Given the description of an element on the screen output the (x, y) to click on. 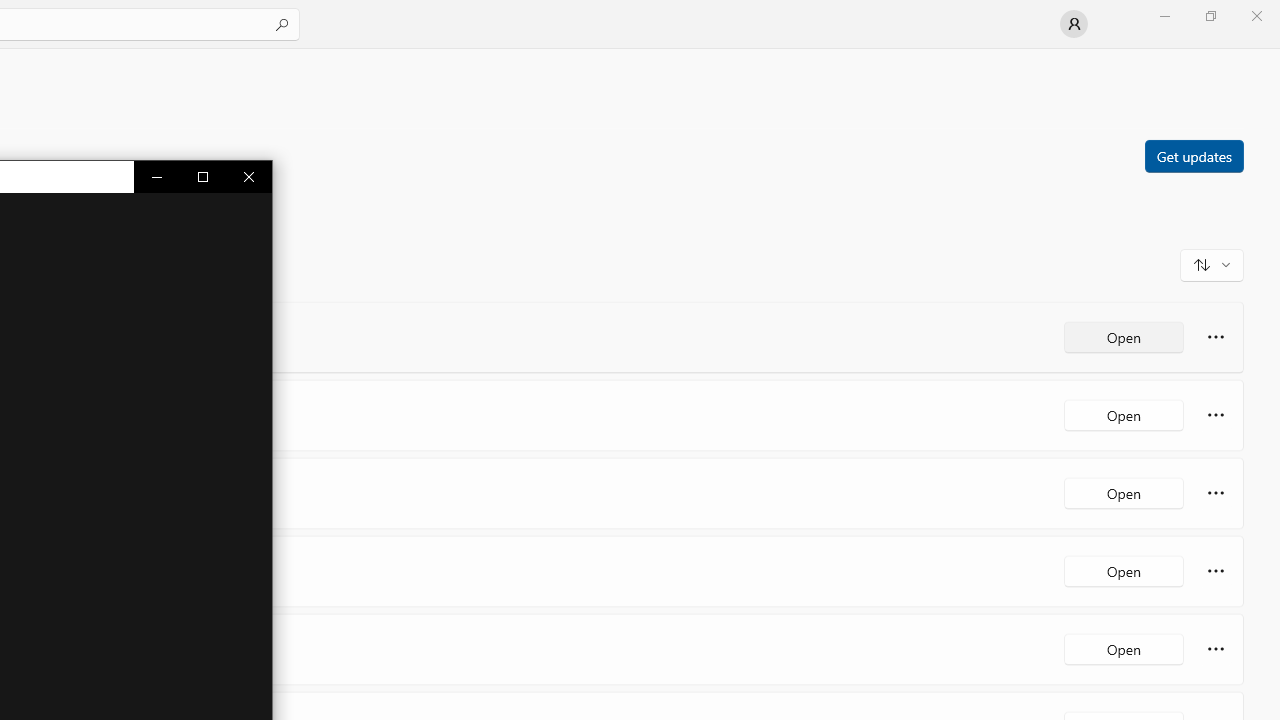
Get updates (1193, 155)
Minimize Microsoft Store (1164, 15)
Sort and filter (1212, 263)
More options (1215, 648)
Open (1123, 648)
User profile (1073, 24)
Restore Microsoft Store (1210, 15)
Close Microsoft Store (1256, 15)
Close Xbox Console Companion (248, 176)
Minimize Xbox Console Companion (157, 176)
Maximize Xbox Console Companion (203, 176)
